Given the description of an element on the screen output the (x, y) to click on. 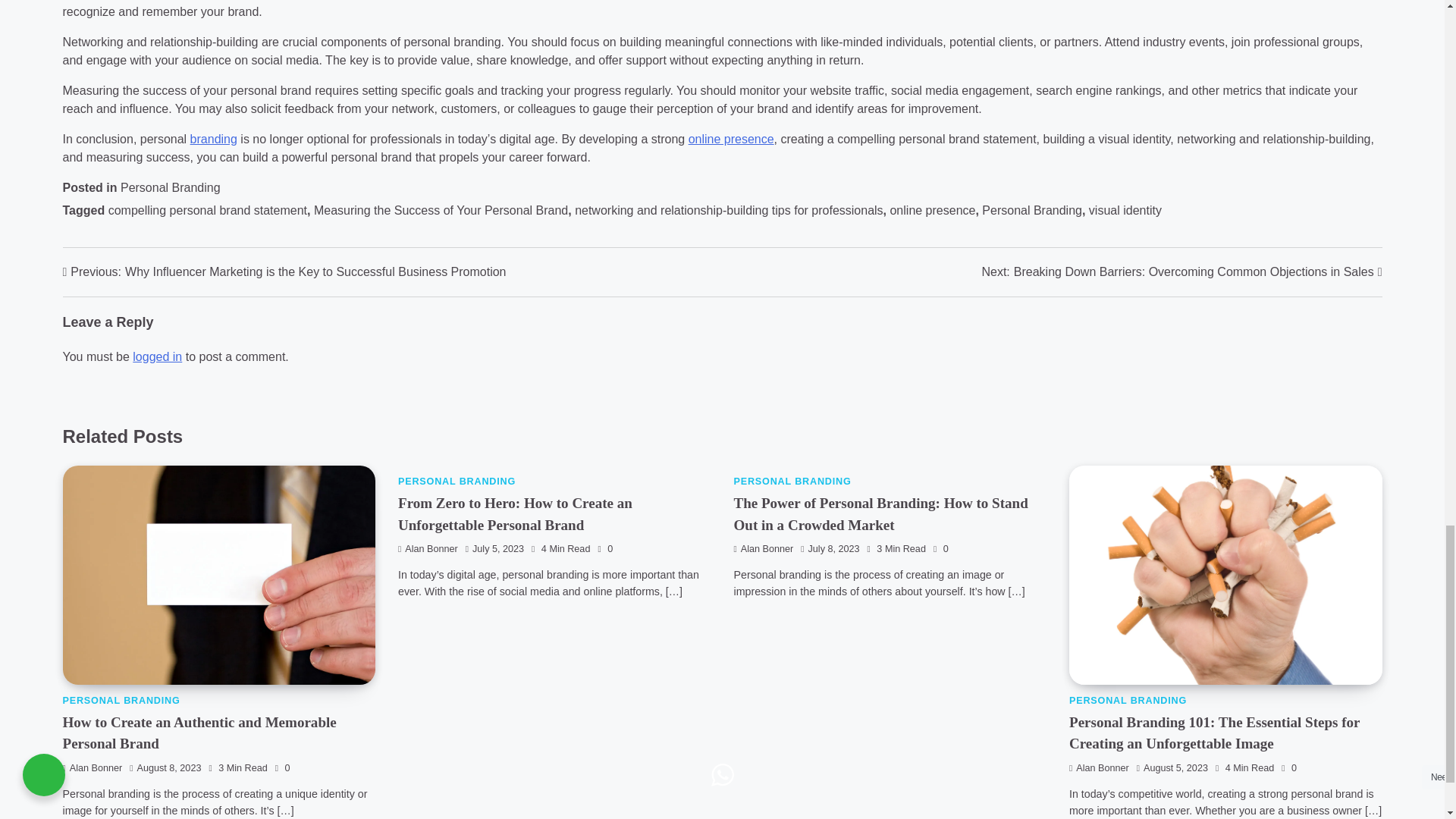
PERSONAL BRANDING (792, 480)
Alan Bonner (427, 548)
Alan Bonner (1098, 767)
PERSONAL BRANDING (456, 480)
online presence (731, 138)
How to Create an Authentic and Memorable Personal Brand (199, 733)
networking and relationship-building tips for professionals (728, 210)
PERSONAL BRANDING (1127, 700)
Alan Bonner (763, 548)
branding (213, 138)
online presence (932, 210)
visual identity (1125, 210)
logged in (157, 356)
